Given the description of an element on the screen output the (x, y) to click on. 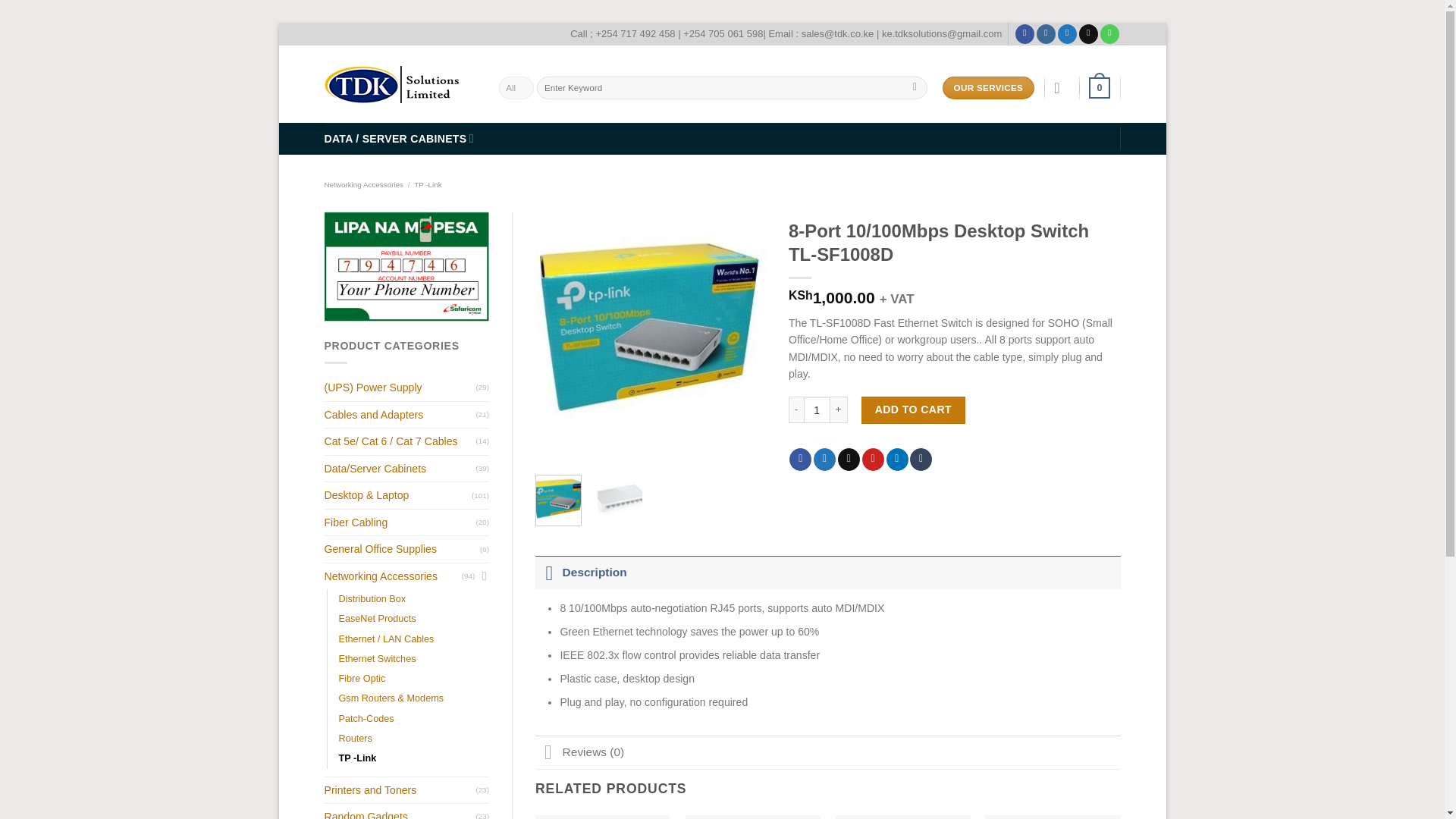
Cables and Adapters (400, 415)
Networking Accessories (364, 184)
General Office Supplies (402, 549)
EaseNet Products (375, 618)
1 (816, 409)
Distribution Box (371, 598)
TP -Link (427, 184)
Fiber Cabling (400, 522)
Qty (816, 409)
